Given the description of an element on the screen output the (x, y) to click on. 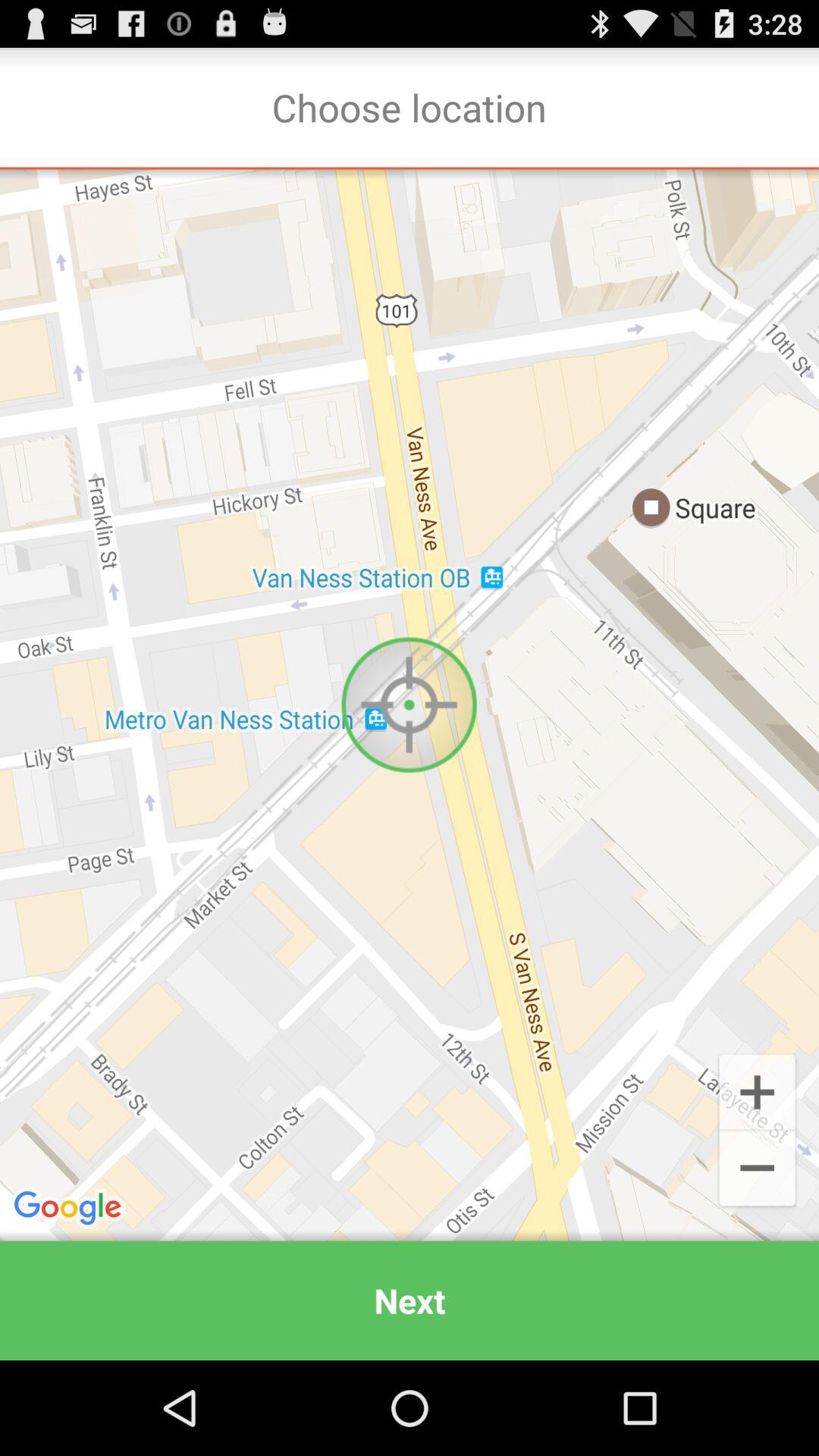
turn off next icon (409, 1300)
